Given the description of an element on the screen output the (x, y) to click on. 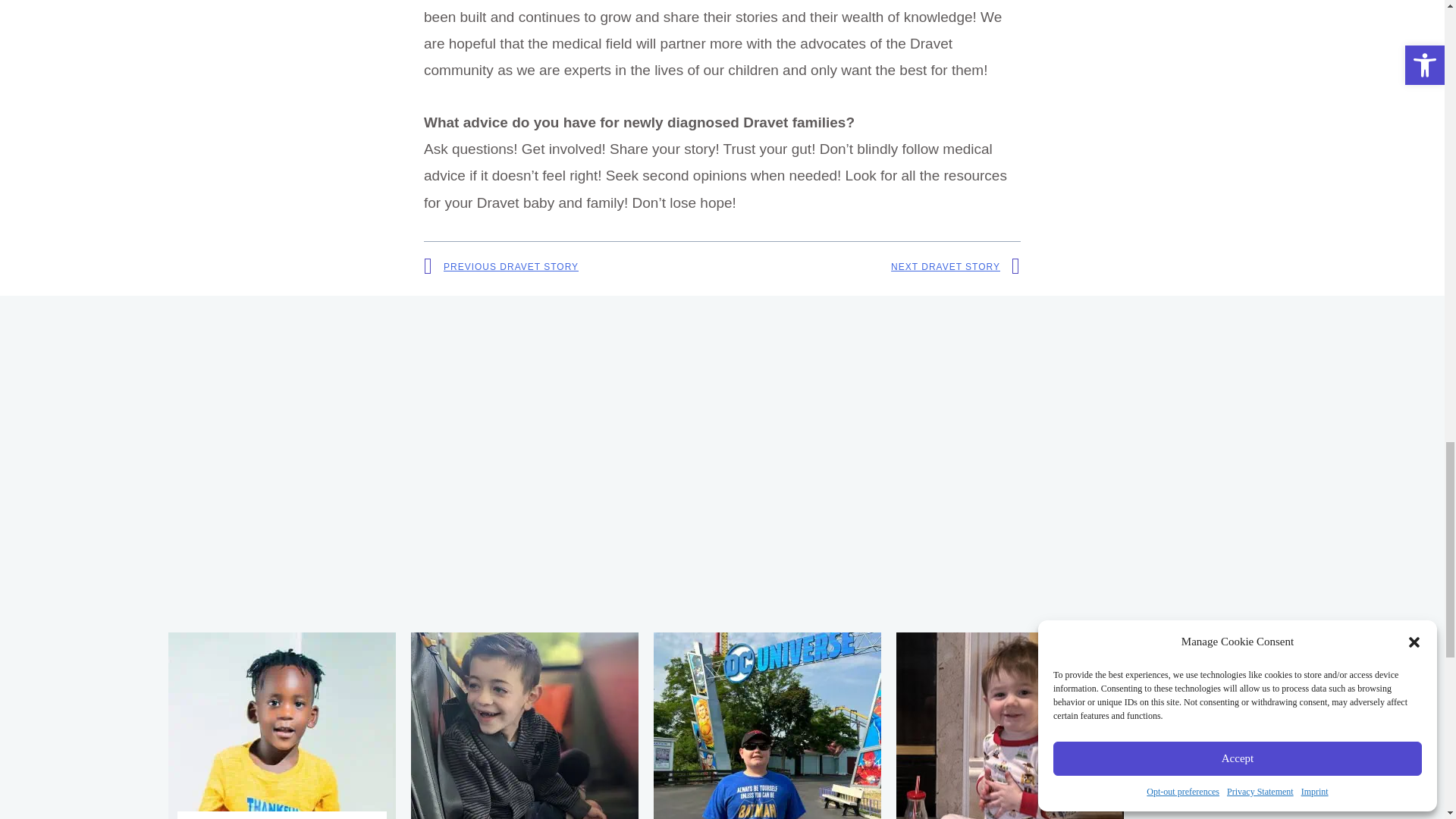
Teko (282, 725)
Bentley (1010, 725)
Bauer (766, 725)
Dominic (524, 725)
